Given the description of an element on the screen output the (x, y) to click on. 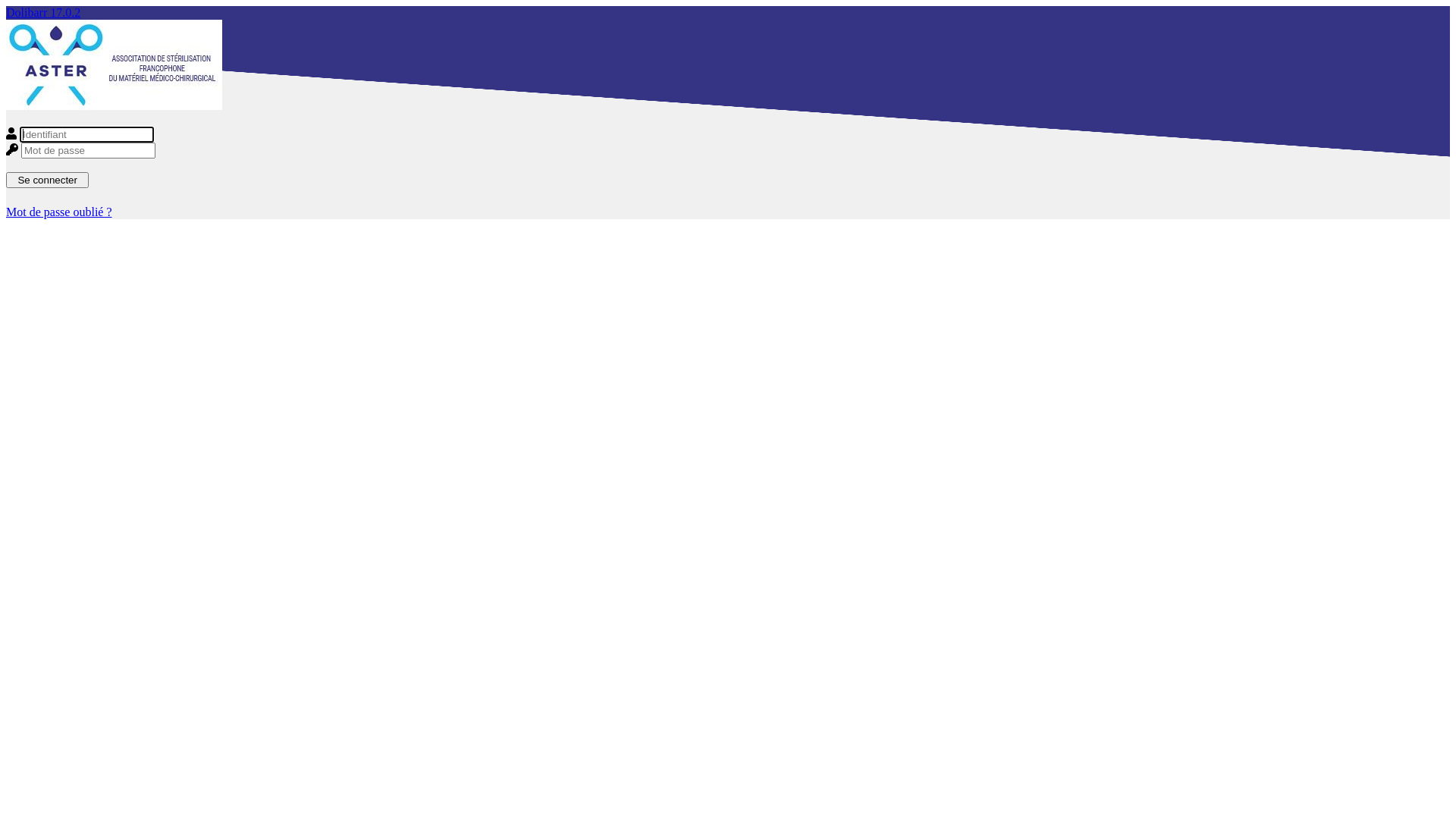
Saisir les informations de connexion Element type: hover (727, 142)
Dolibarr 17.0.2 Element type: text (43, 12)
